Given the description of an element on the screen output the (x, y) to click on. 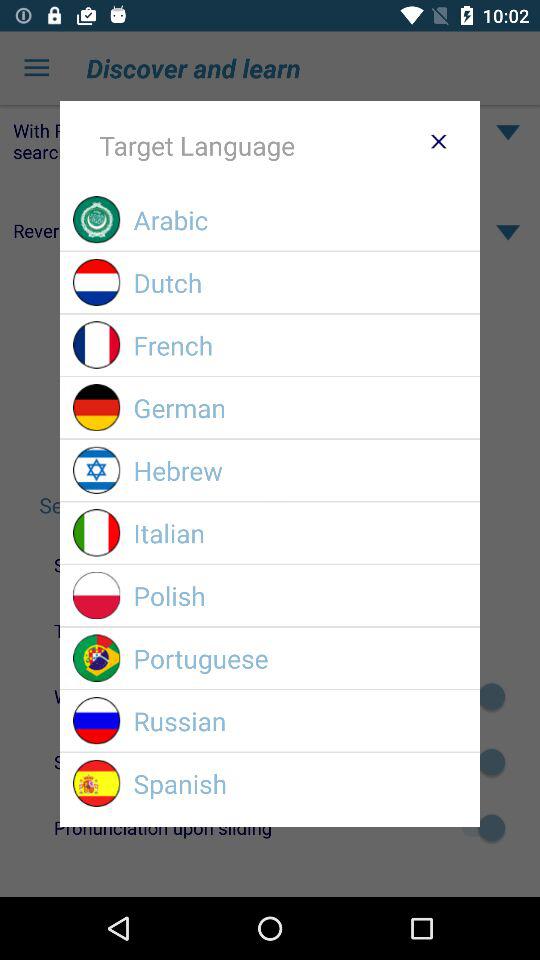
choose the item above spanish (300, 720)
